Given the description of an element on the screen output the (x, y) to click on. 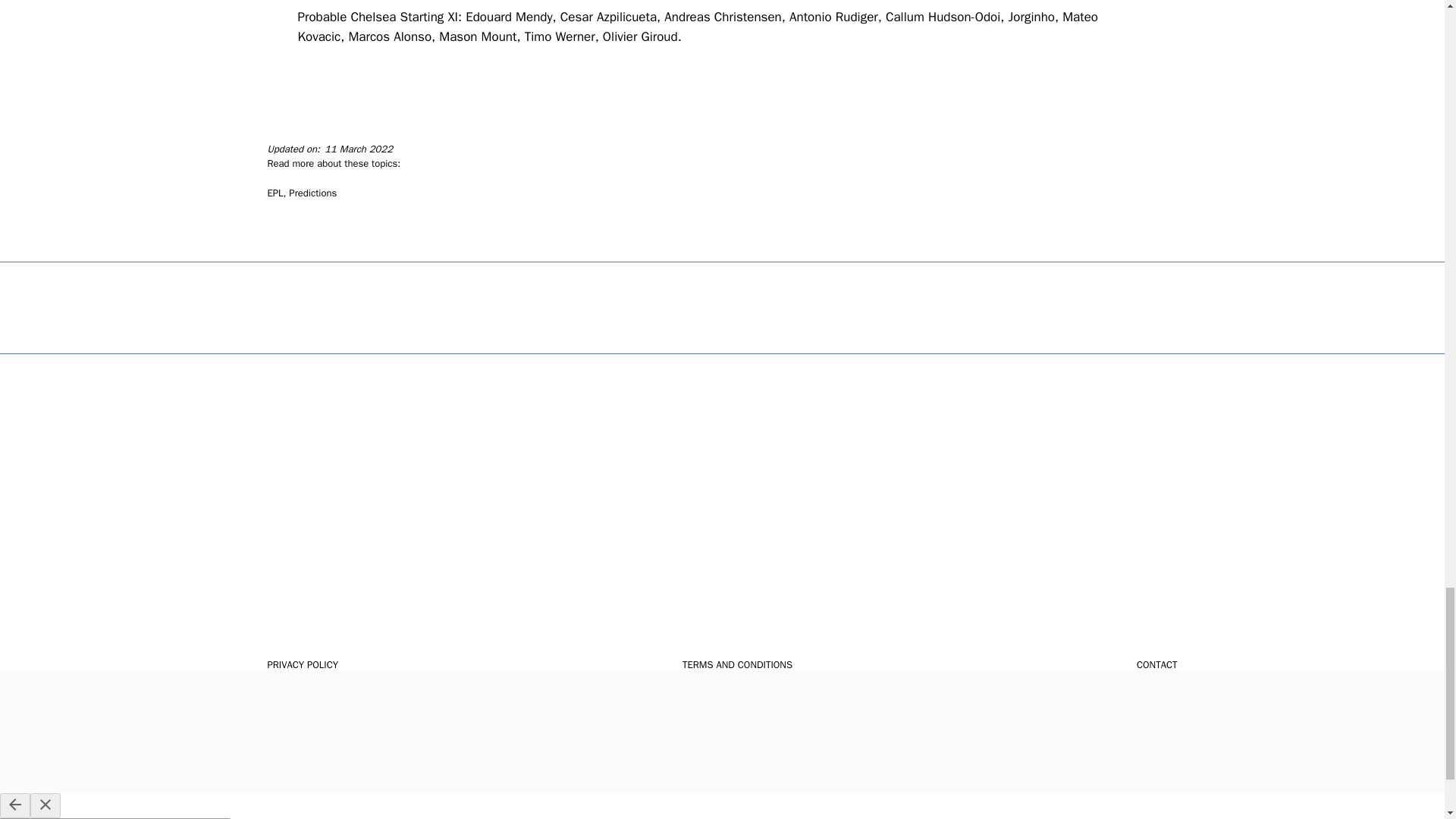
CONTACT (1157, 664)
Predictions (312, 192)
PRIVACY POLICY (301, 664)
EPL (274, 192)
TERMS AND CONDITIONS (737, 664)
